Given the description of an element on the screen output the (x, y) to click on. 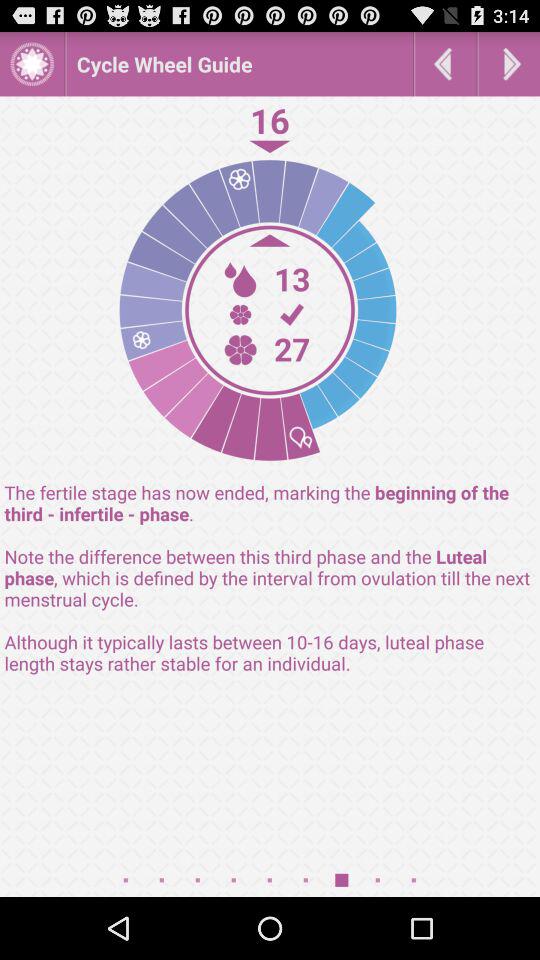
go back (445, 63)
